Given the description of an element on the screen output the (x, y) to click on. 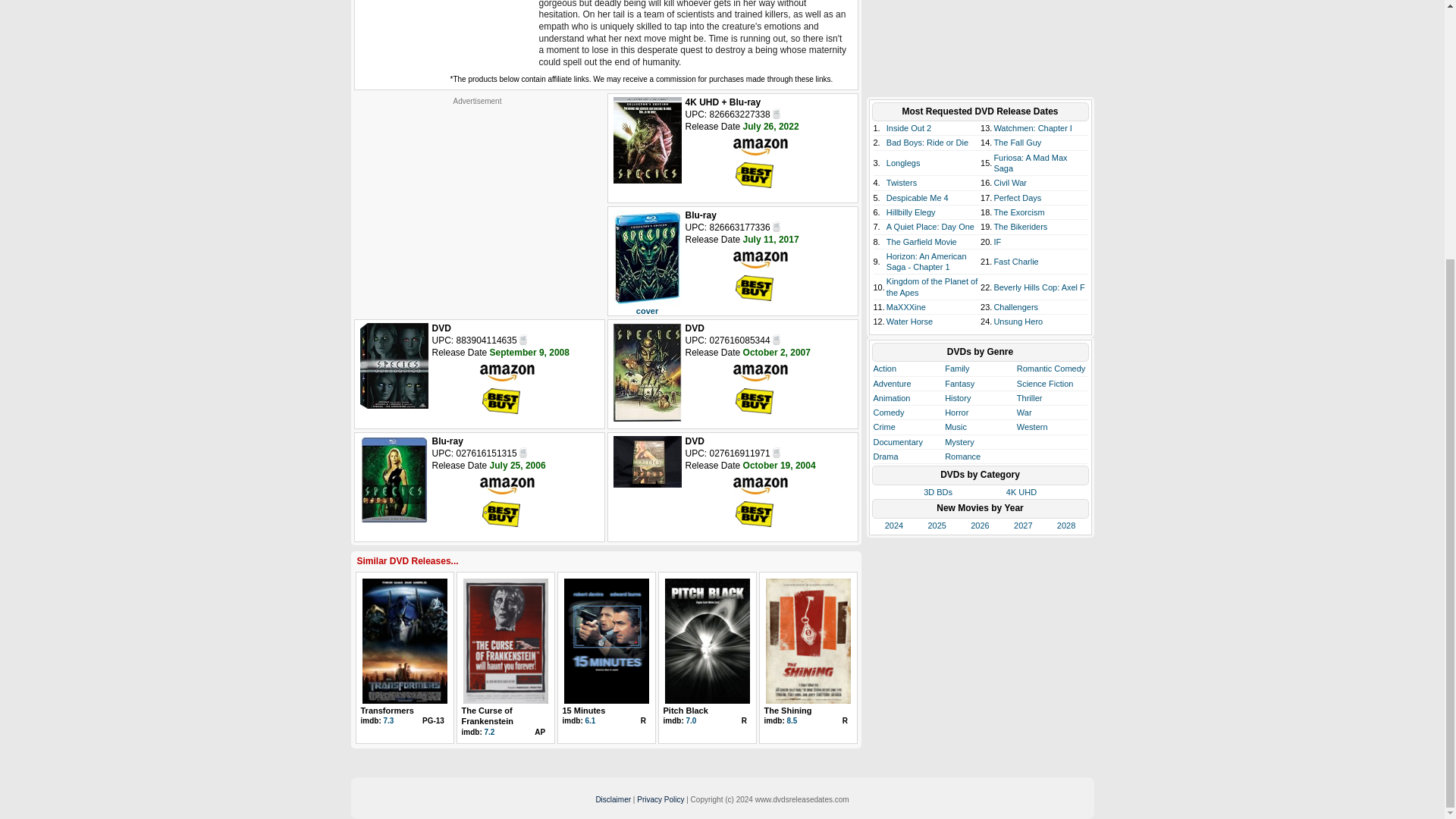
Add to wish list (523, 338)
The Curse of Frankenstein DVD Release Date (504, 641)
Add to wish list (776, 112)
The Shining DVD Release Date (807, 641)
Add to wish list (776, 338)
Pitch Black DVD Release Date (706, 641)
Transformers DVD Release Date (404, 641)
Add to wish list (776, 225)
Add to wish list (523, 451)
Add to wish list (776, 451)
15 Minutes DVD Release Date (606, 641)
cover (647, 310)
